Given the description of an element on the screen output the (x, y) to click on. 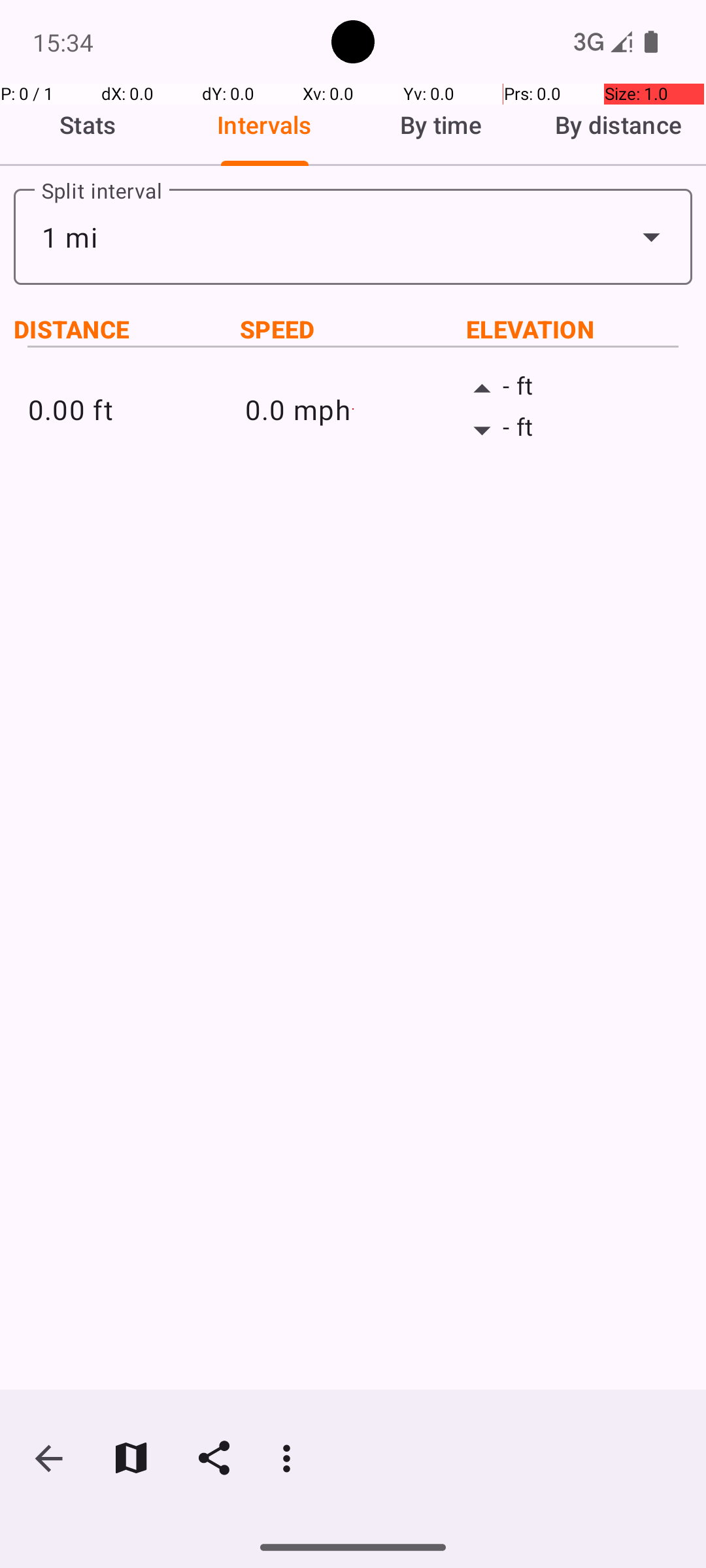
0.0 mph Element type: android.widget.TextView (352, 408)
